Given the description of an element on the screen output the (x, y) to click on. 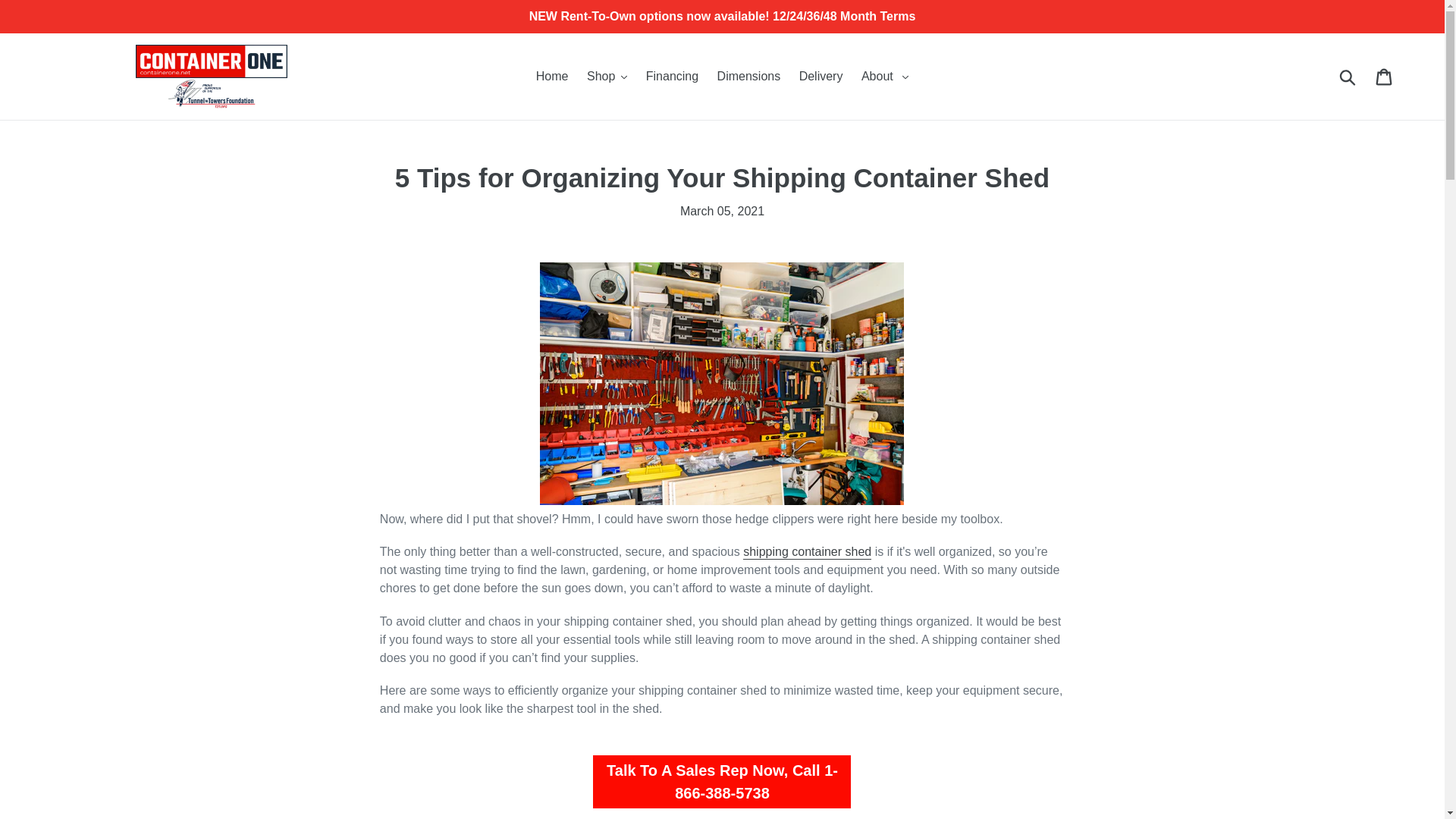
Submit (1348, 76)
Home (552, 76)
Shipping Container Storage Sheds (806, 552)
Financing (672, 76)
Dimensions (749, 76)
Delivery (821, 76)
Cart (1385, 76)
